Given the description of an element on the screen output the (x, y) to click on. 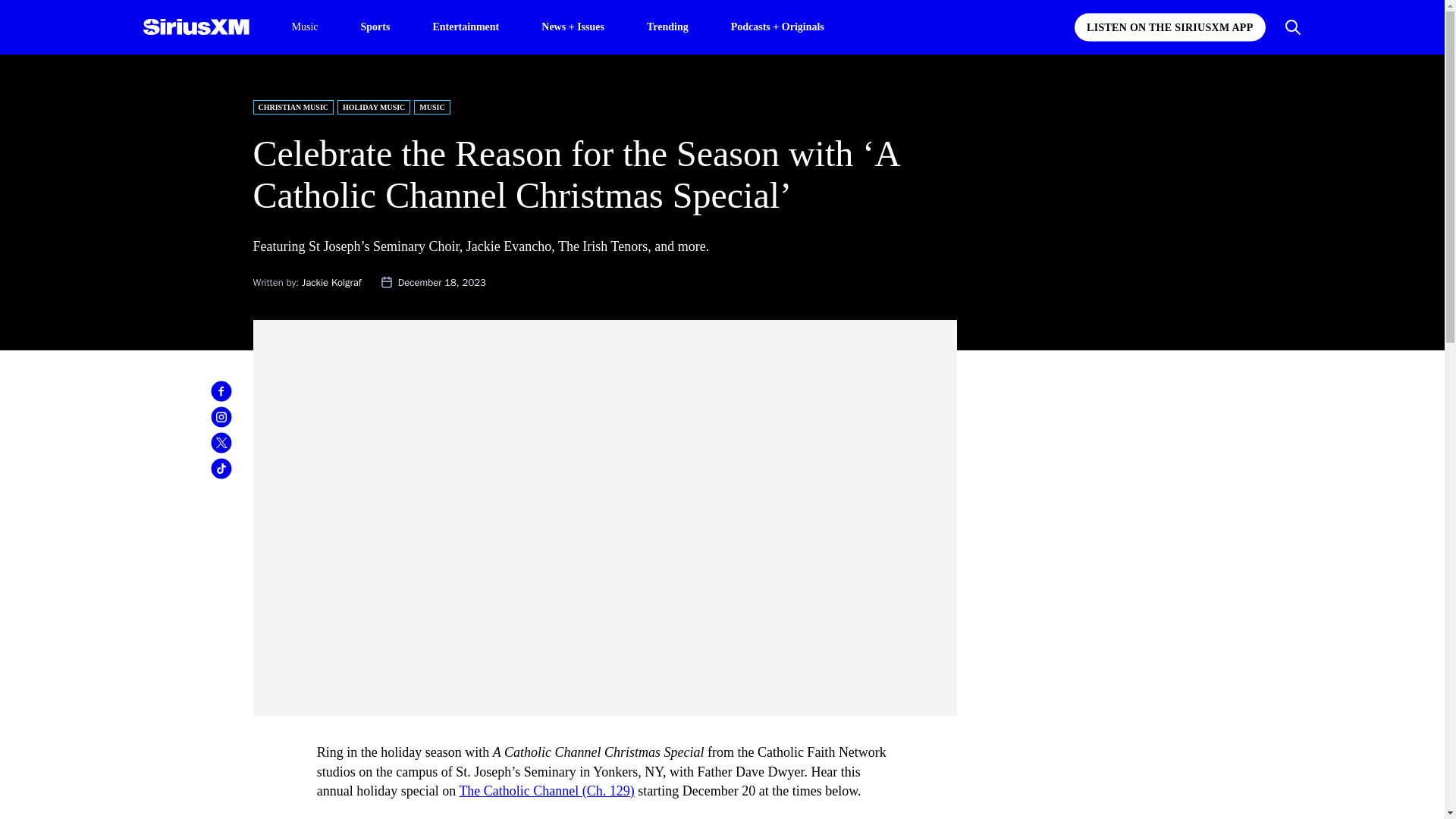
Entertainment (465, 26)
Jackie Kolgraf (331, 282)
LISTEN ON THE SIRIUSXM APP (1169, 27)
Sports (375, 26)
HOLIDAY MUSIC (373, 106)
MUSIC (431, 106)
CHRISTIAN MUSIC (293, 106)
Music (304, 26)
Trending (667, 26)
